Given the description of an element on the screen output the (x, y) to click on. 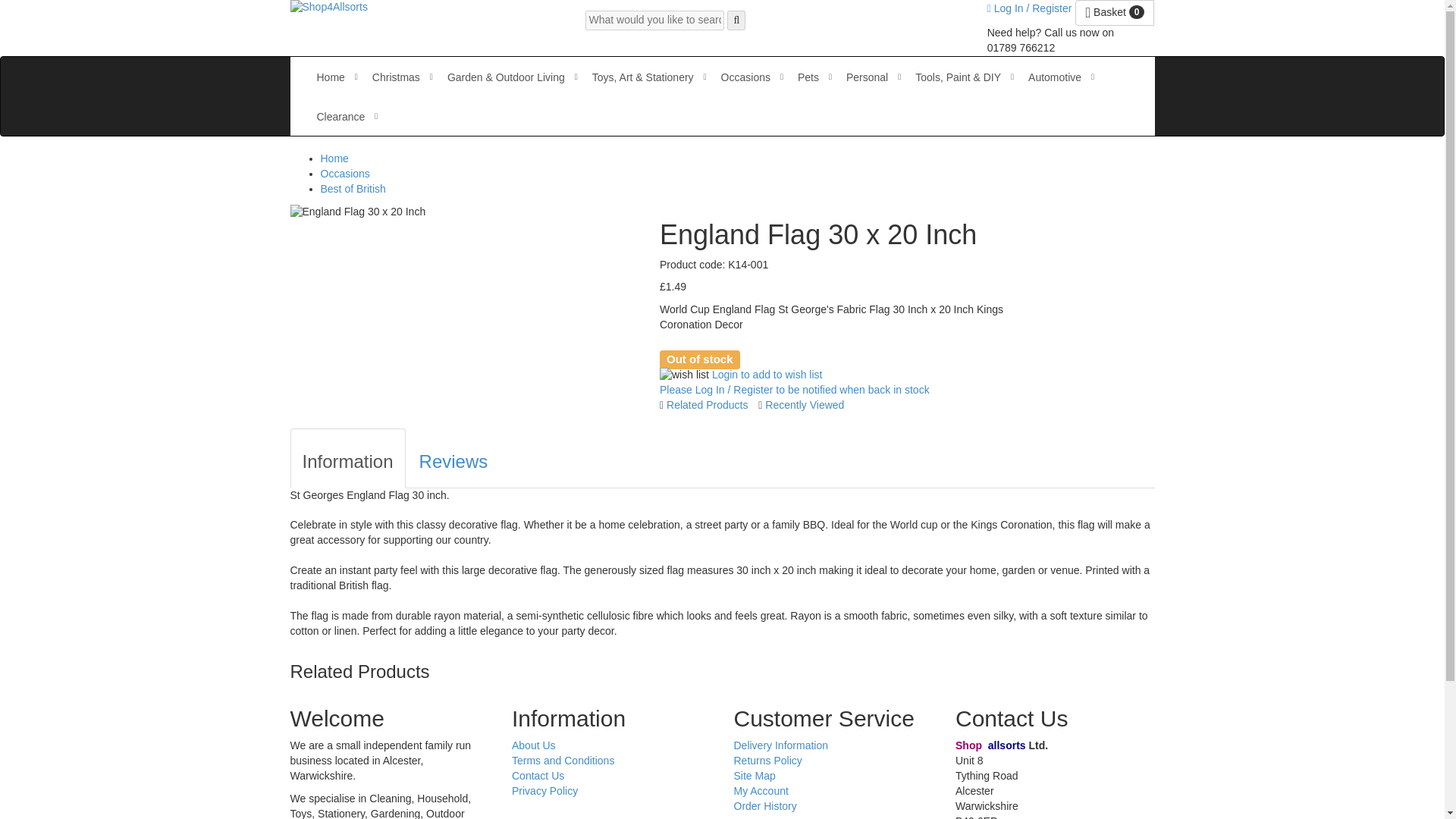
Basket 0 (1114, 12)
Christmas (395, 77)
Home (330, 77)
wish list (684, 375)
Submit (735, 20)
Shop4Allsorts (327, 7)
